Given the description of an element on the screen output the (x, y) to click on. 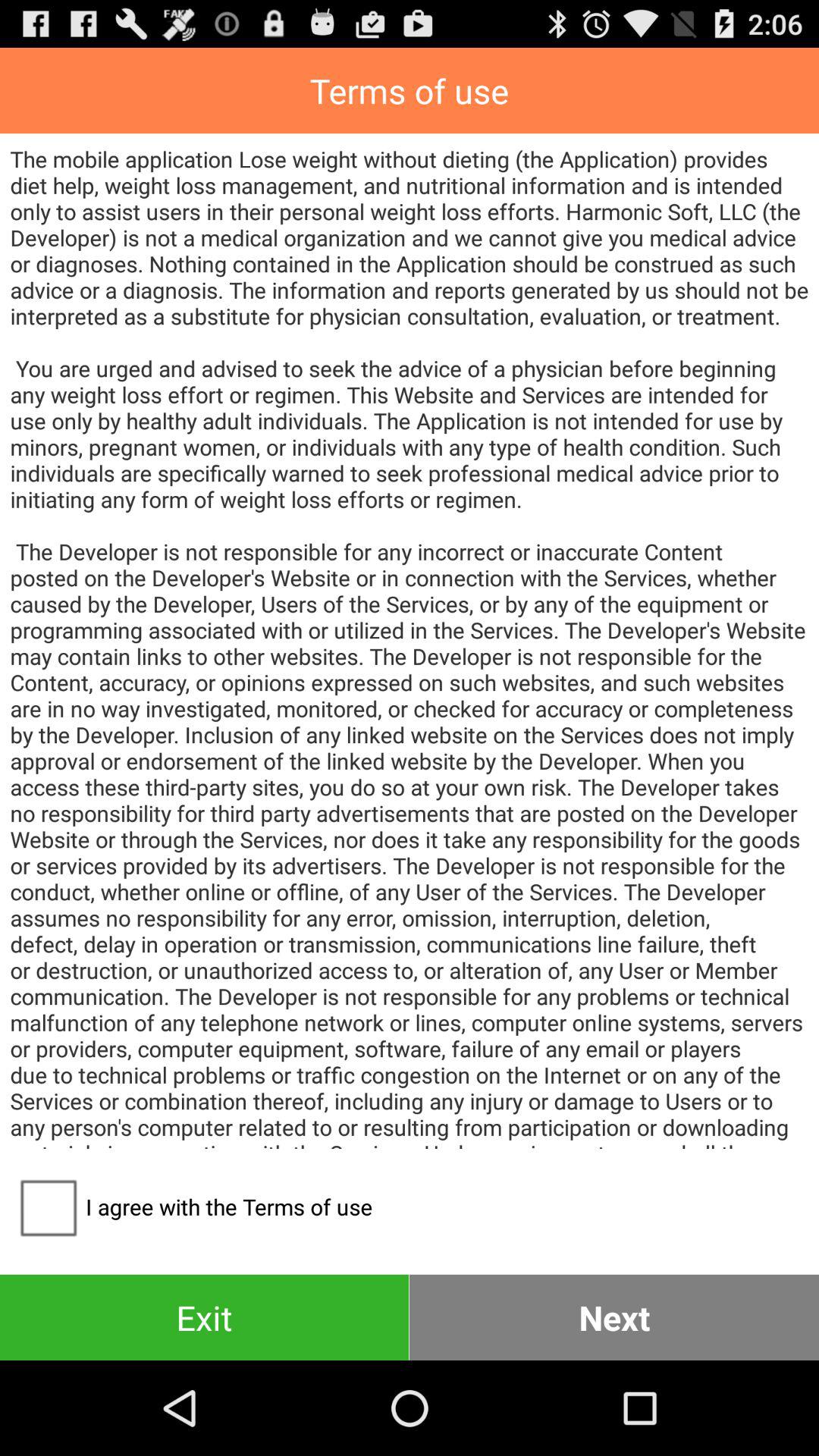
select item to the left of next button (204, 1317)
